Given the description of an element on the screen output the (x, y) to click on. 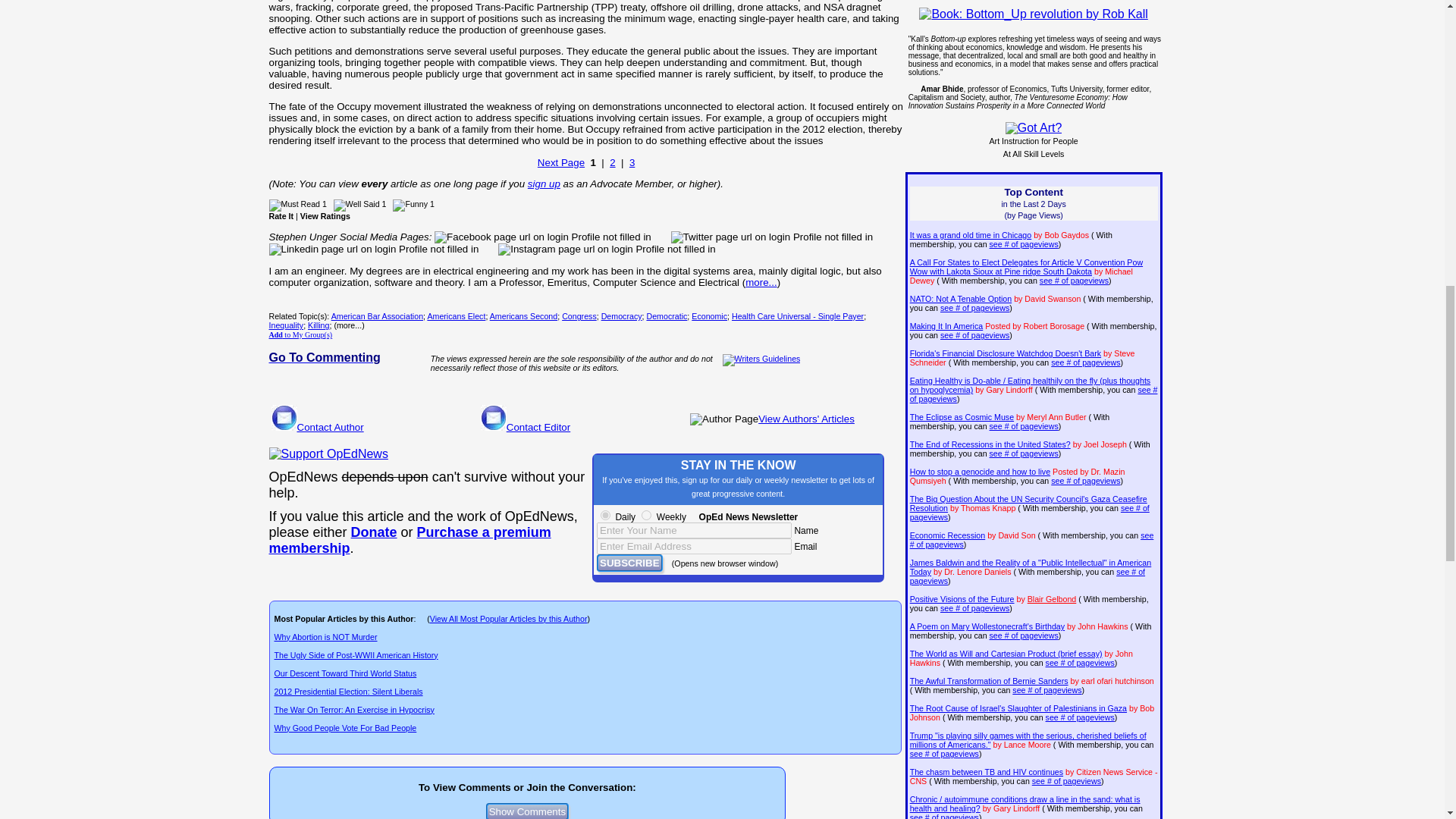
Americans Second (523, 316)
Americans Elect (455, 316)
Must Read (293, 205)
Facebook page url on login Profile not filled in (541, 236)
Rate It (280, 215)
Enter Email Address (694, 546)
Linkedin page url on login Profile not filled in (373, 249)
Writers Guidelines (761, 359)
-- (373, 531)
Weekly (646, 515)
